Given the description of an element on the screen output the (x, y) to click on. 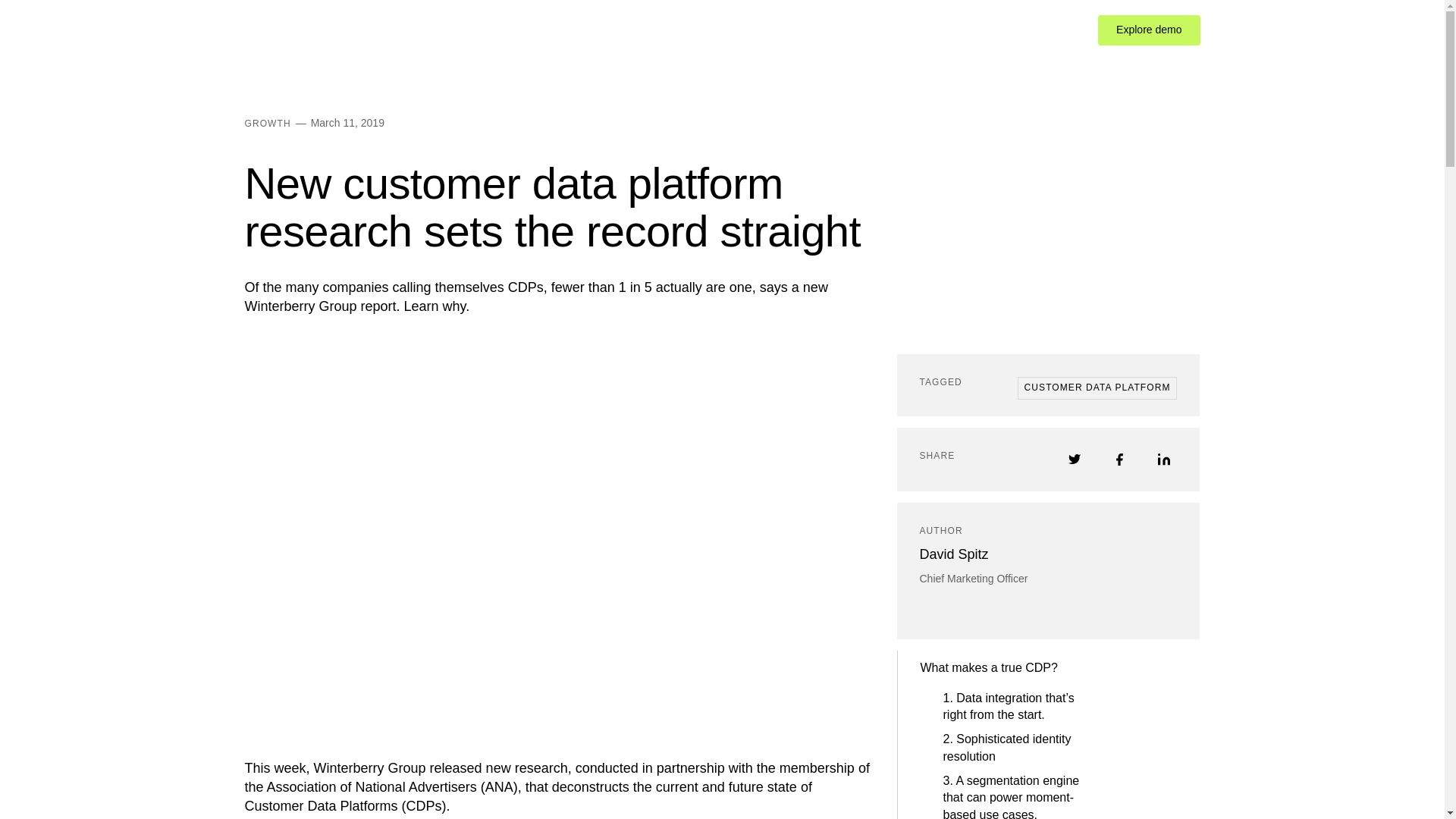
Login (985, 29)
Contact us (1048, 29)
What makes a true CDP? (992, 667)
2. Sophisticated identity resolution (992, 748)
Explore demo (1148, 30)
CUSTOMER DATA PLATFORM (1097, 387)
Resources (557, 30)
GROWTH (266, 122)
